Given the description of an element on the screen output the (x, y) to click on. 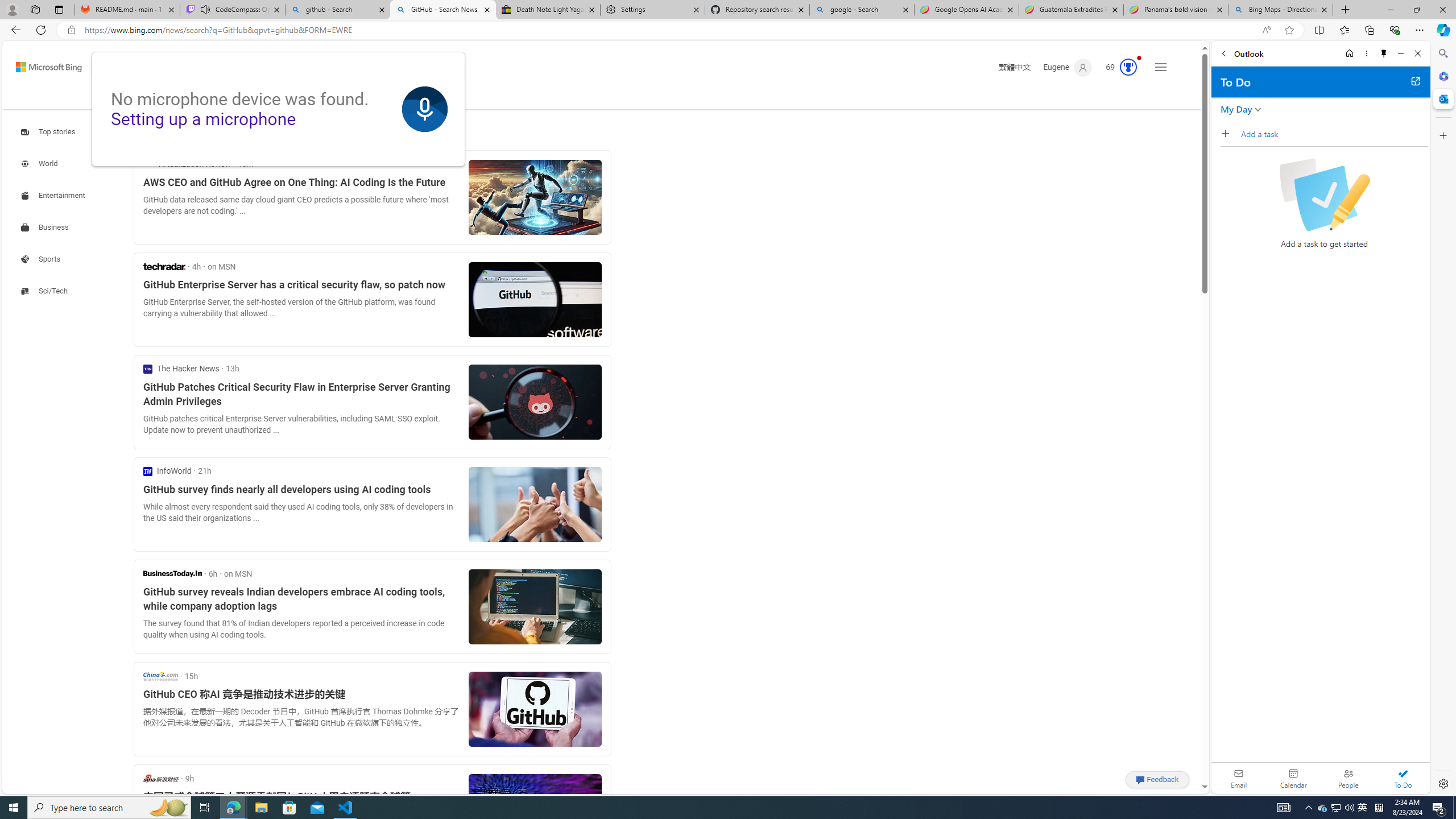
MAPS (311, 98)
Tab actions menu (58, 9)
